Given the description of an element on the screen output the (x, y) to click on. 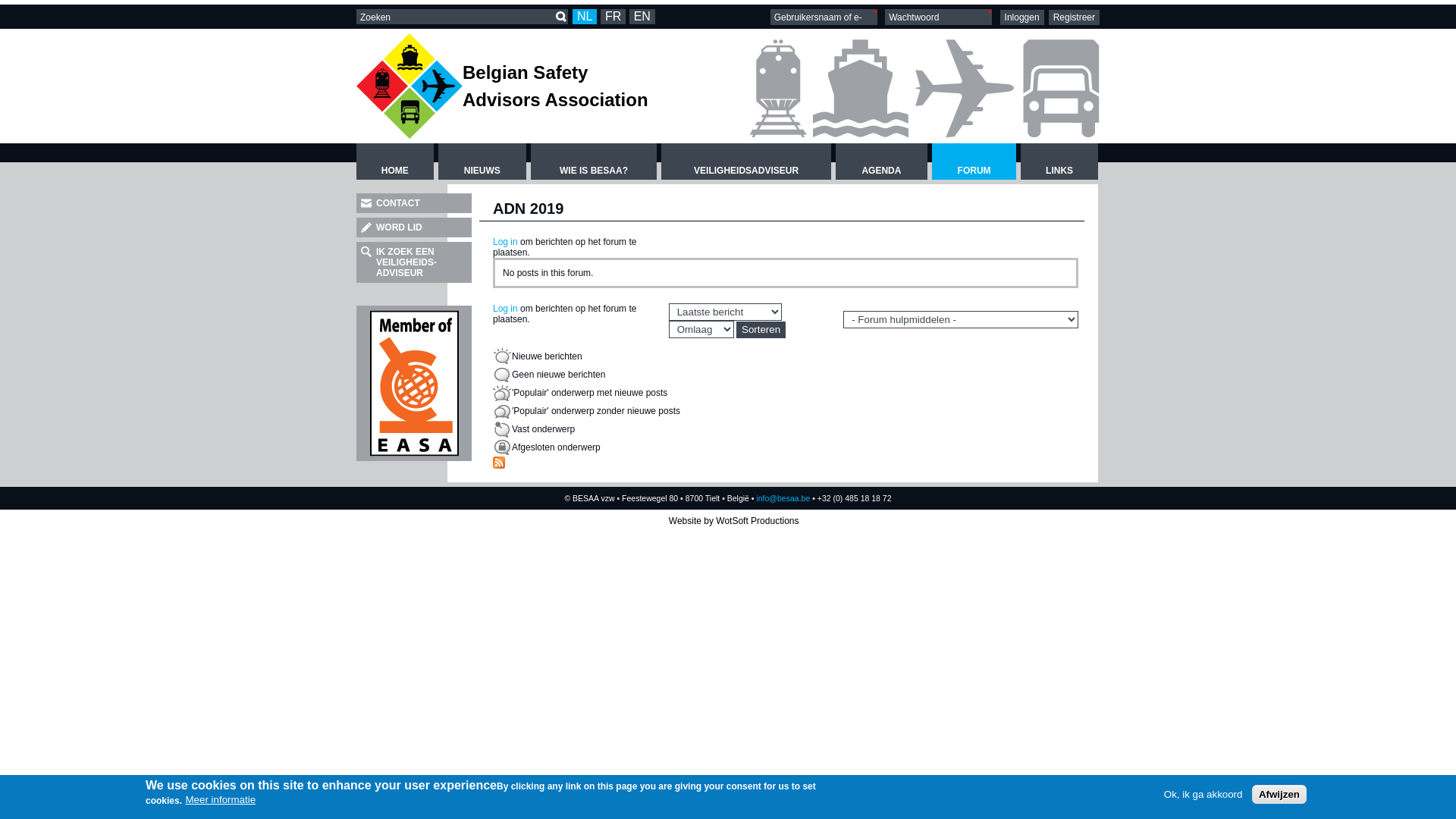
Inloggen Element type: text (1022, 17)
WORD LID Element type: text (413, 227)
AGENDA Element type: text (881, 161)
VEILIGHEIDSADVISEUR Element type: text (746, 161)
IK ZOEK EEN VEILIGHEIDS-ADVISEUR Element type: text (413, 261)
Log in Element type: text (504, 308)
Zoeken Element type: text (560, 16)
Sorteren Element type: text (760, 329)
FORUM Element type: text (973, 161)
Belgian Safety
Advisors Association Element type: text (555, 85)
Afwijzen Element type: text (1279, 793)
Abonneren op RSS - ADN 2019 Element type: hover (498, 463)
WIE IS BESAA? Element type: text (593, 161)
info@besaa.be Element type: text (782, 497)
CONTACT Element type: text (413, 203)
Home Element type: hover (409, 86)
FR Element type: text (612, 16)
LINKS Element type: text (1059, 161)
HOME Element type: text (394, 161)
Meer informatie Element type: text (220, 799)
Registreer Element type: text (1073, 17)
WotSoft Productions Element type: text (756, 520)
Ok, ik ga akkoord Element type: text (1202, 794)
EN Element type: text (642, 16)
NL Element type: text (584, 16)
NIEUWS Element type: text (482, 161)
Log in Element type: text (504, 241)
Filter Element type: text (16, 10)
